Given the description of an element on the screen output the (x, y) to click on. 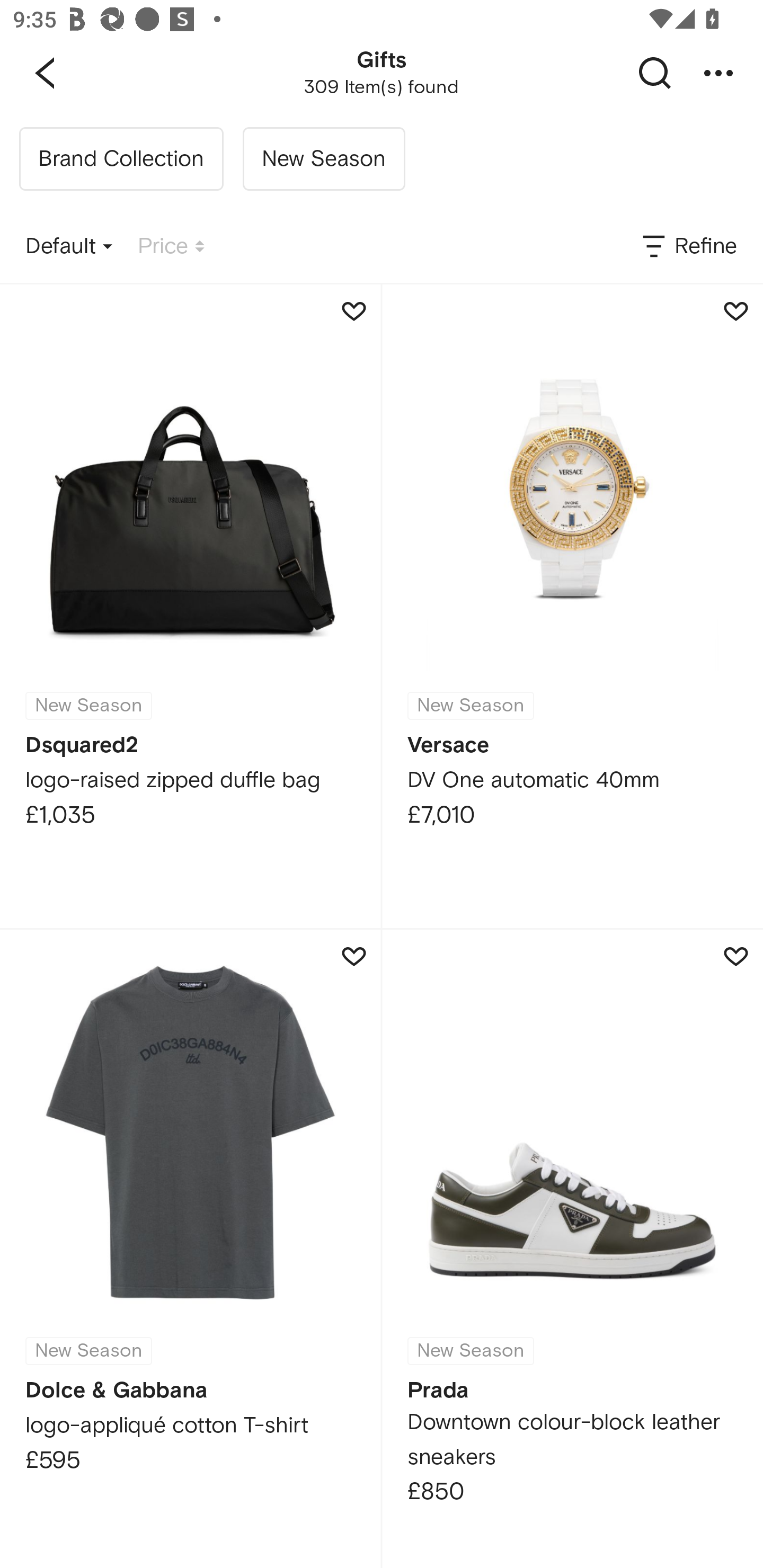
Brand Collection (121, 158)
New Season (323, 158)
Default (68, 246)
Price (171, 246)
Refine (688, 246)
New Season Versace DV One automatic 40mm £7,010 (572, 605)
